Given the description of an element on the screen output the (x, y) to click on. 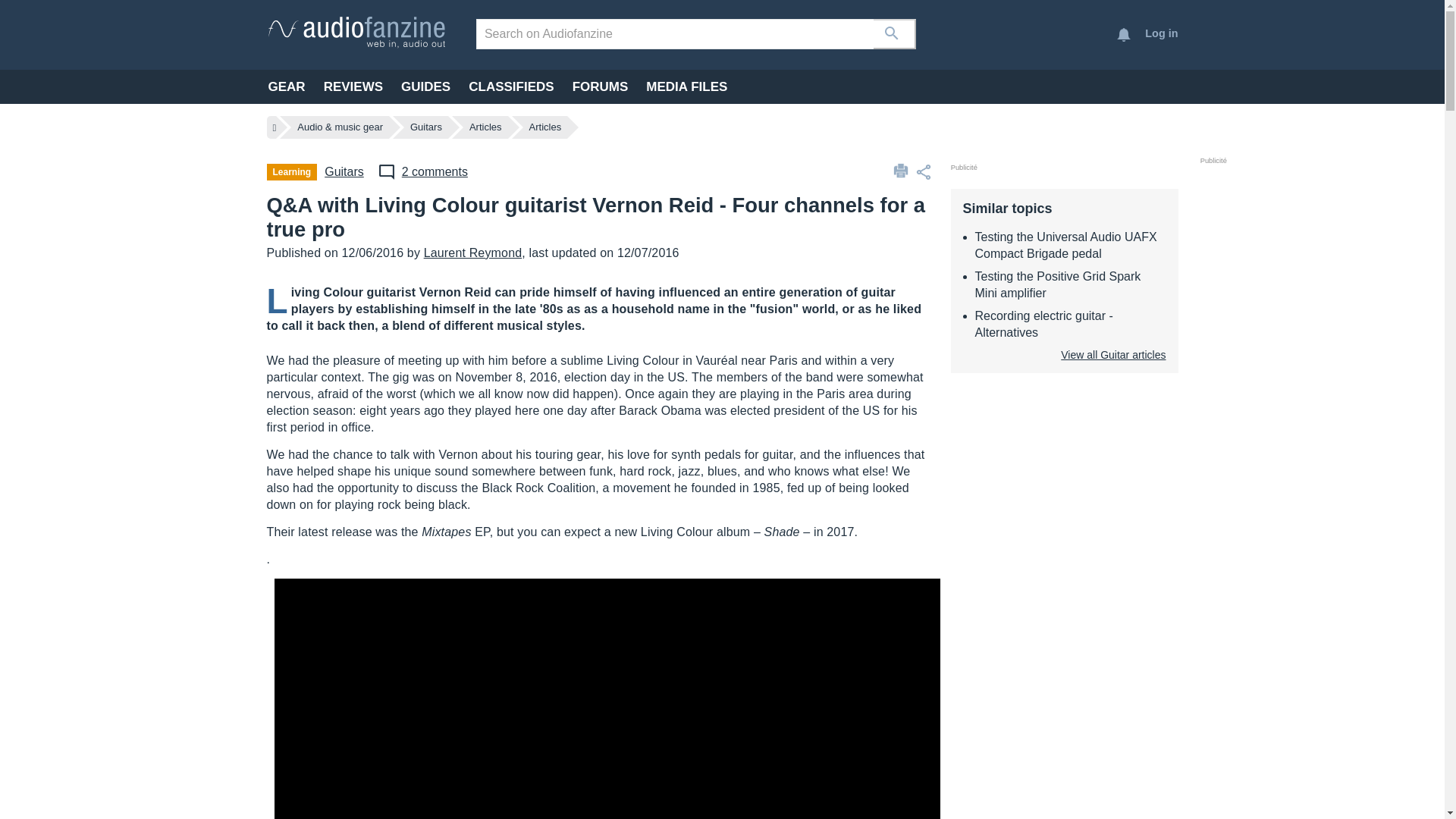
Comment on Audiofanzine (422, 171)
View Laurent Reymond's member profile (472, 252)
Articles (485, 127)
FORUMS (600, 86)
Notifications (1123, 34)
Guitars (426, 127)
Search (894, 33)
CLASSIFIEDS (511, 86)
Articles (545, 127)
